Given the description of an element on the screen output the (x, y) to click on. 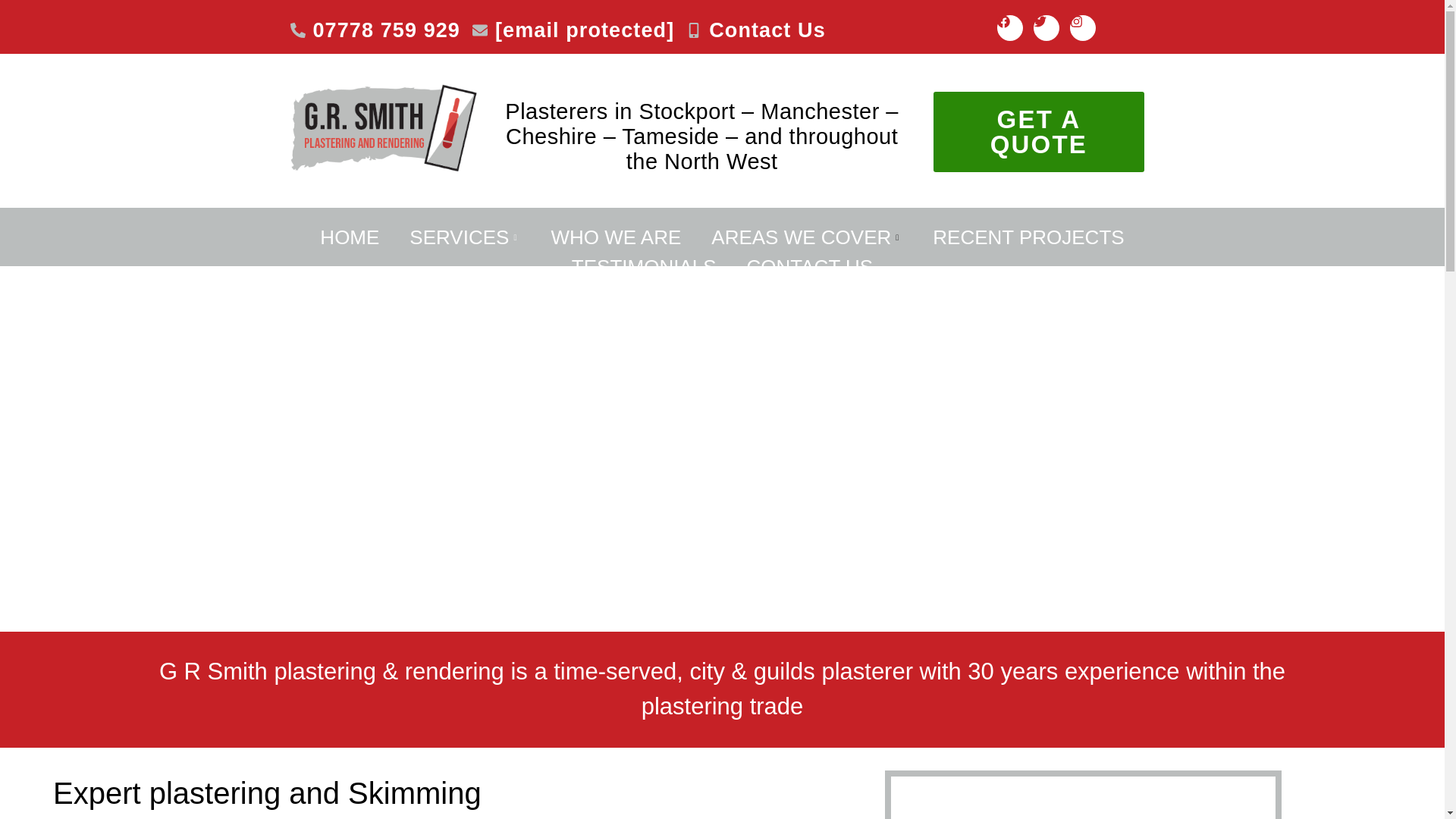
HOME (349, 237)
WHO WE ARE (615, 237)
CONTACT US (810, 266)
AREAS WE COVER (806, 237)
SERVICES (464, 237)
TESTIMONIALS (644, 266)
GET A QUOTE (1038, 130)
RECENT PROJECTS (1027, 237)
07778 759 929 (374, 30)
